Given the description of an element on the screen output the (x, y) to click on. 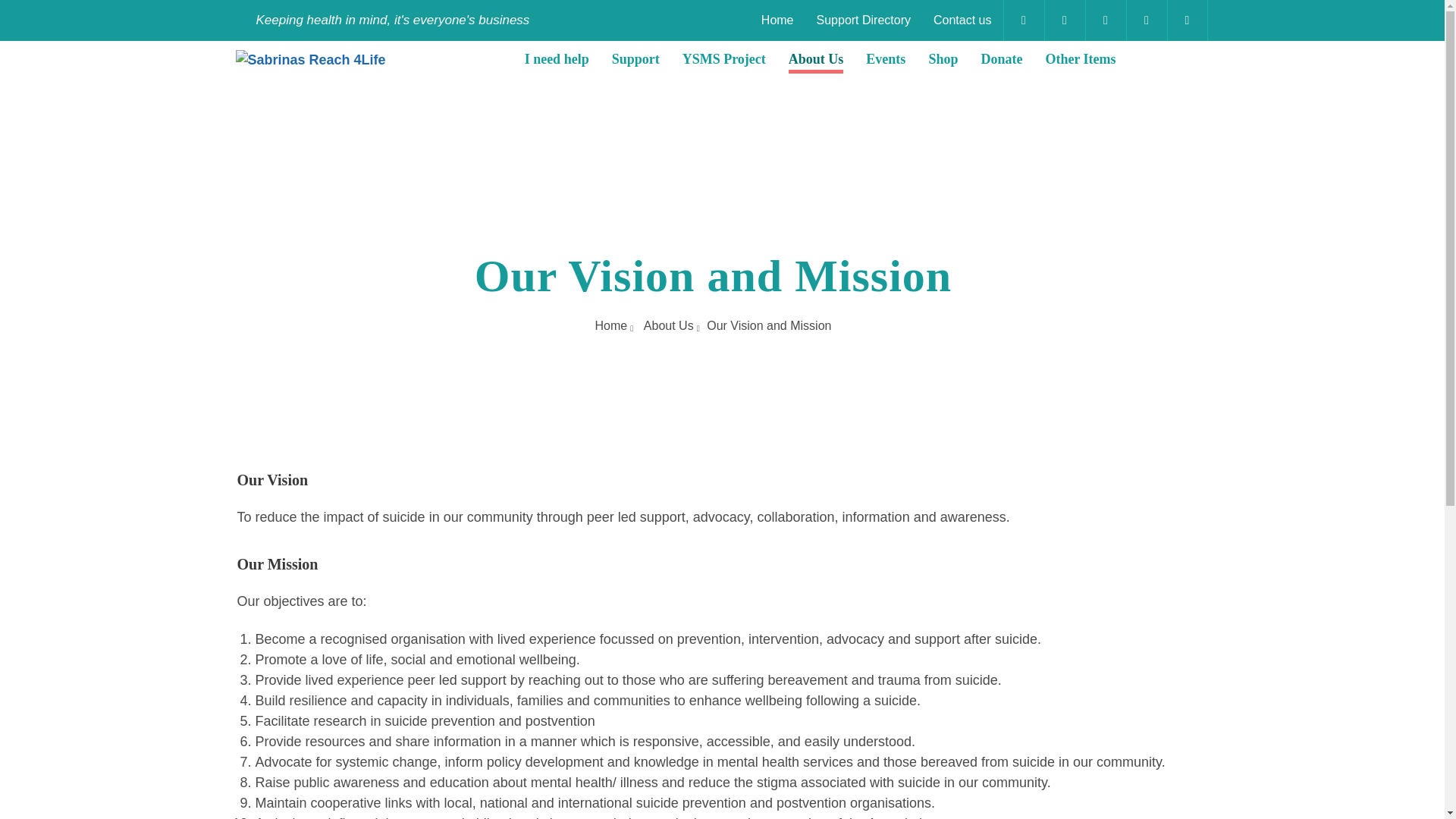
About Us (816, 60)
Events (885, 60)
Search (1186, 20)
Follow us on Instagram (1104, 20)
Follow us on Twitter (1063, 20)
Contact us (962, 20)
Link opens in a new window (1023, 20)
Link opens in a new window (1104, 20)
Follow us Linkedin (1145, 20)
